Given the description of an element on the screen output the (x, y) to click on. 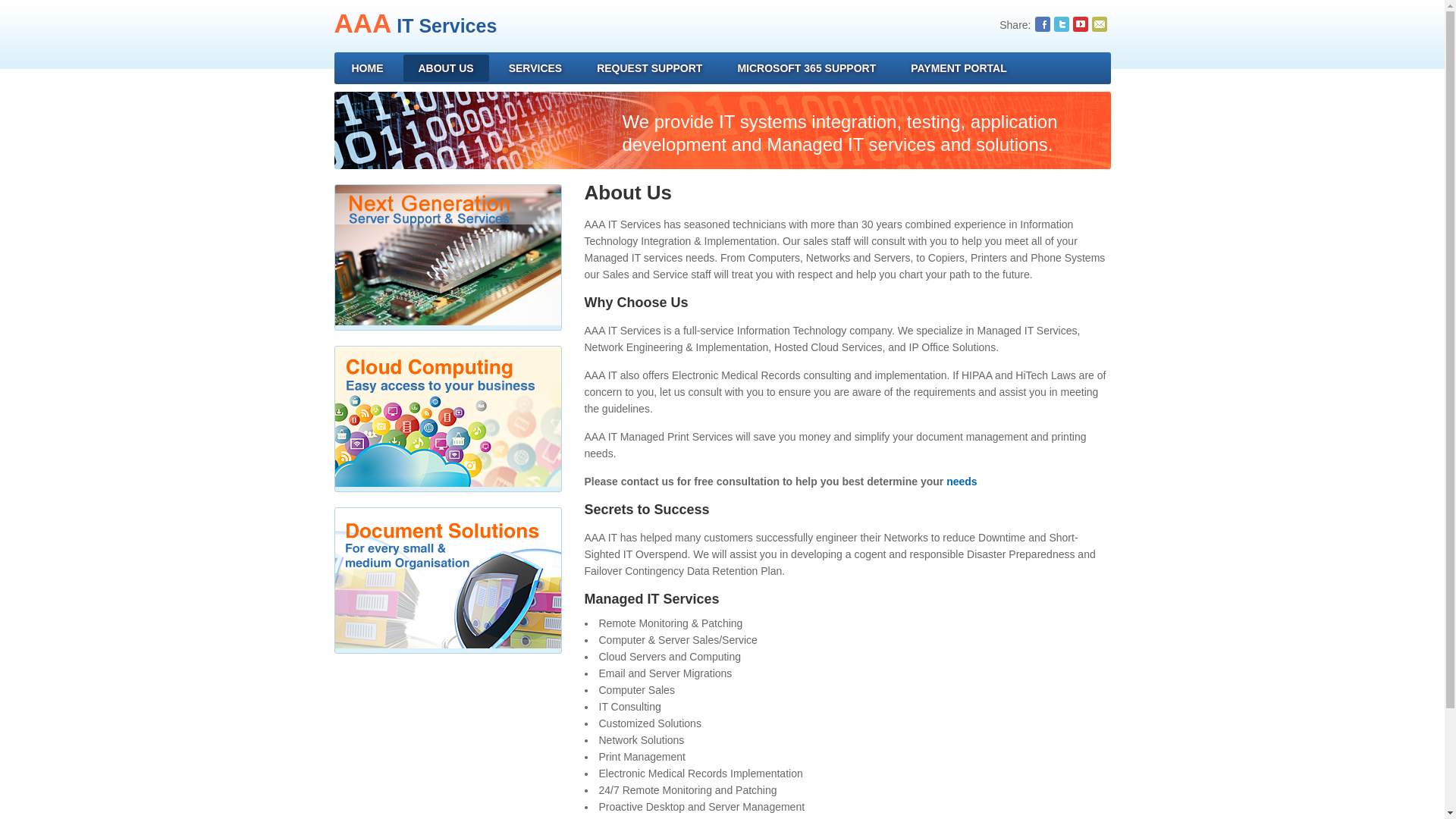
MICROSOFT 365 SUPPORT (806, 67)
AAA IT Services (414, 25)
HOME (367, 67)
Facebook (1041, 23)
REQUEST SUPPORT (648, 67)
needs (961, 481)
PAYMENT PORTAL (958, 67)
Tweeter (1061, 23)
YouTube (1079, 23)
Contact Us (1099, 23)
SERVICES (535, 67)
ABOUT US (446, 67)
